Given the description of an element on the screen output the (x, y) to click on. 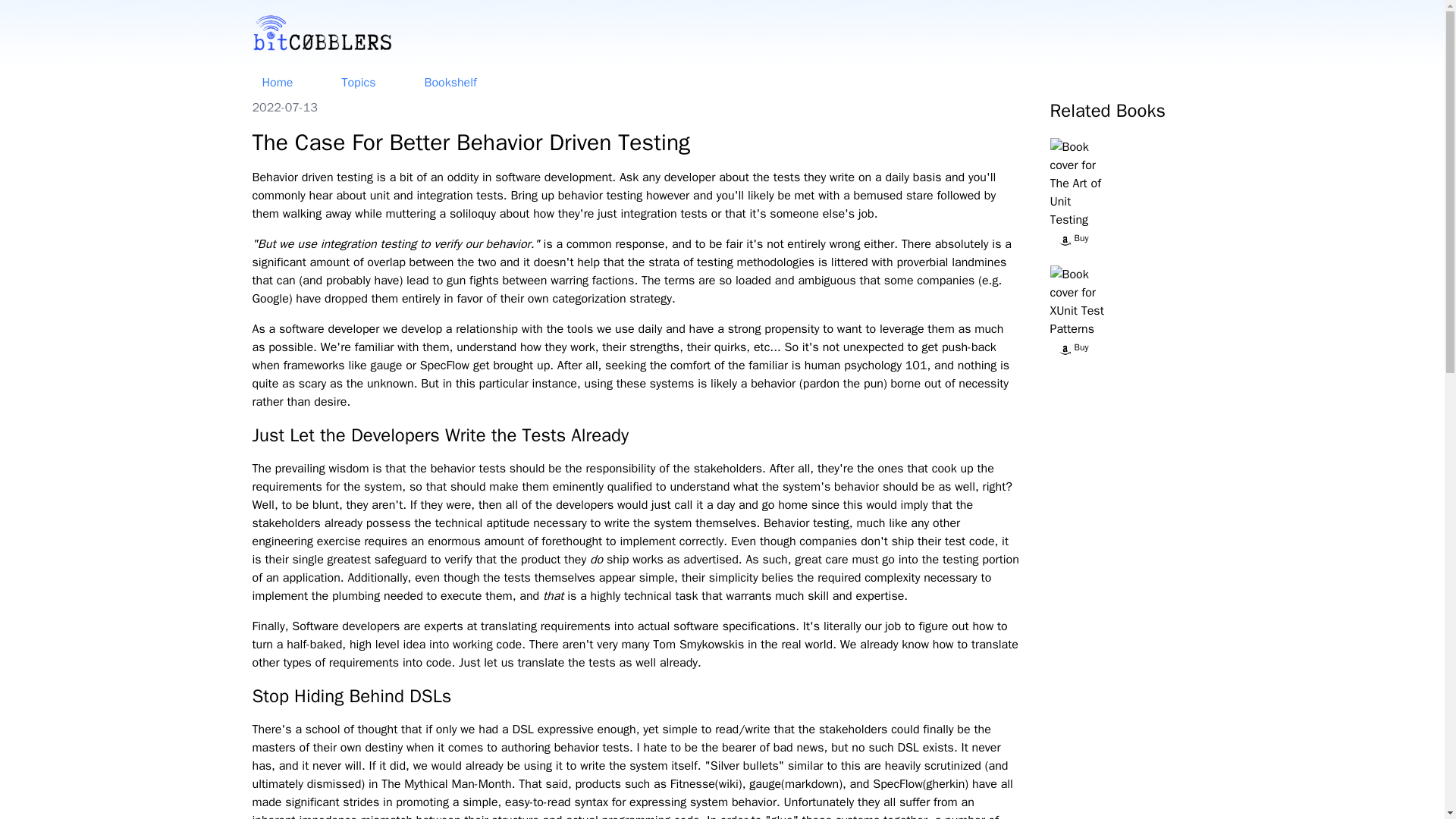
Topics (357, 82)
gauge (385, 365)
strategy (649, 298)
Bookshelf (449, 82)
gauge (764, 783)
Buy (1128, 239)
SpecFlow (897, 783)
Home (278, 82)
Fitnesse (691, 783)
The Mythical Man-Month (446, 783)
